Given the description of an element on the screen output the (x, y) to click on. 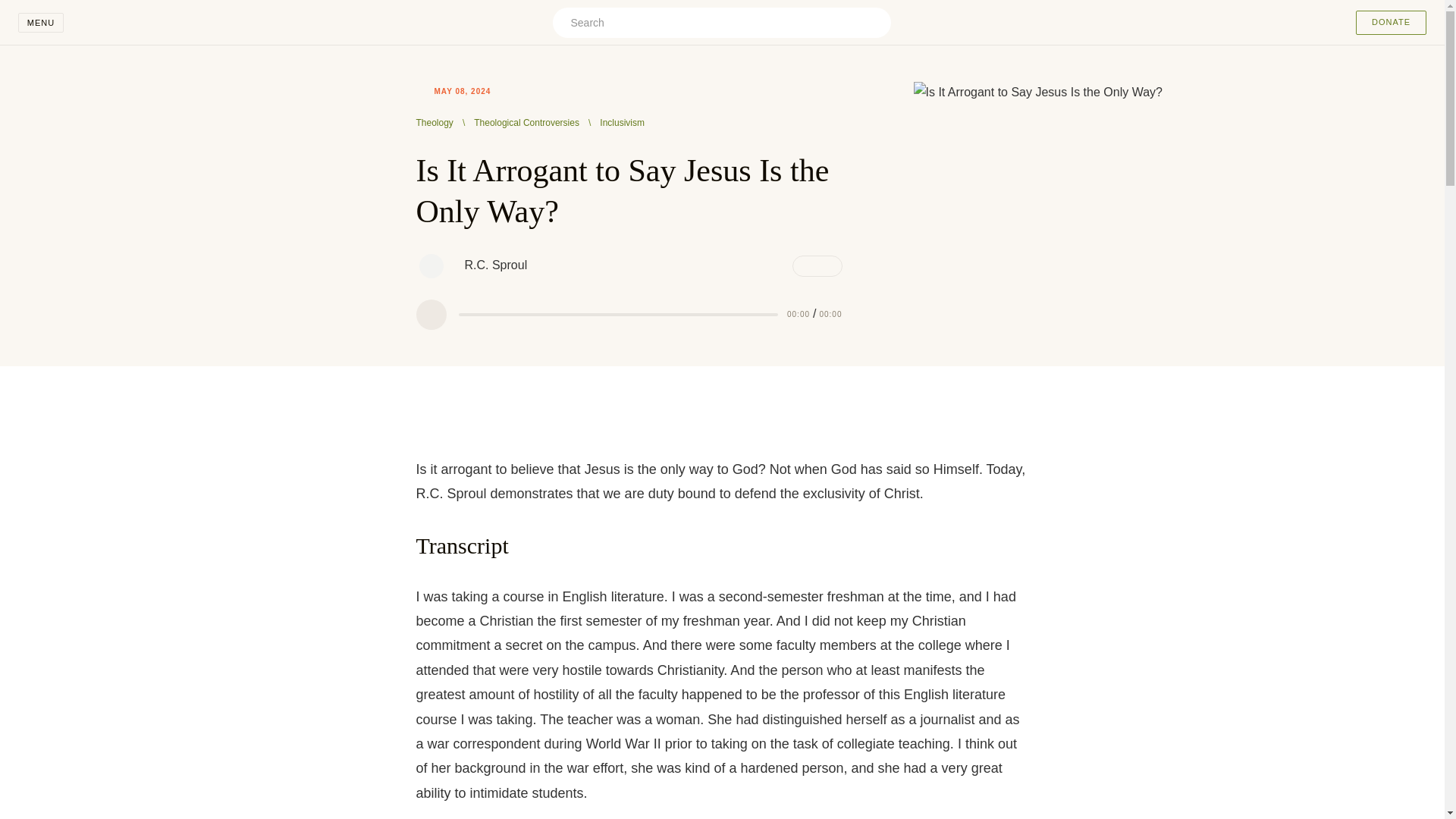
MENU (40, 22)
R.C. Sproul (429, 265)
DONATE (1390, 22)
